Given the description of an element on the screen output the (x, y) to click on. 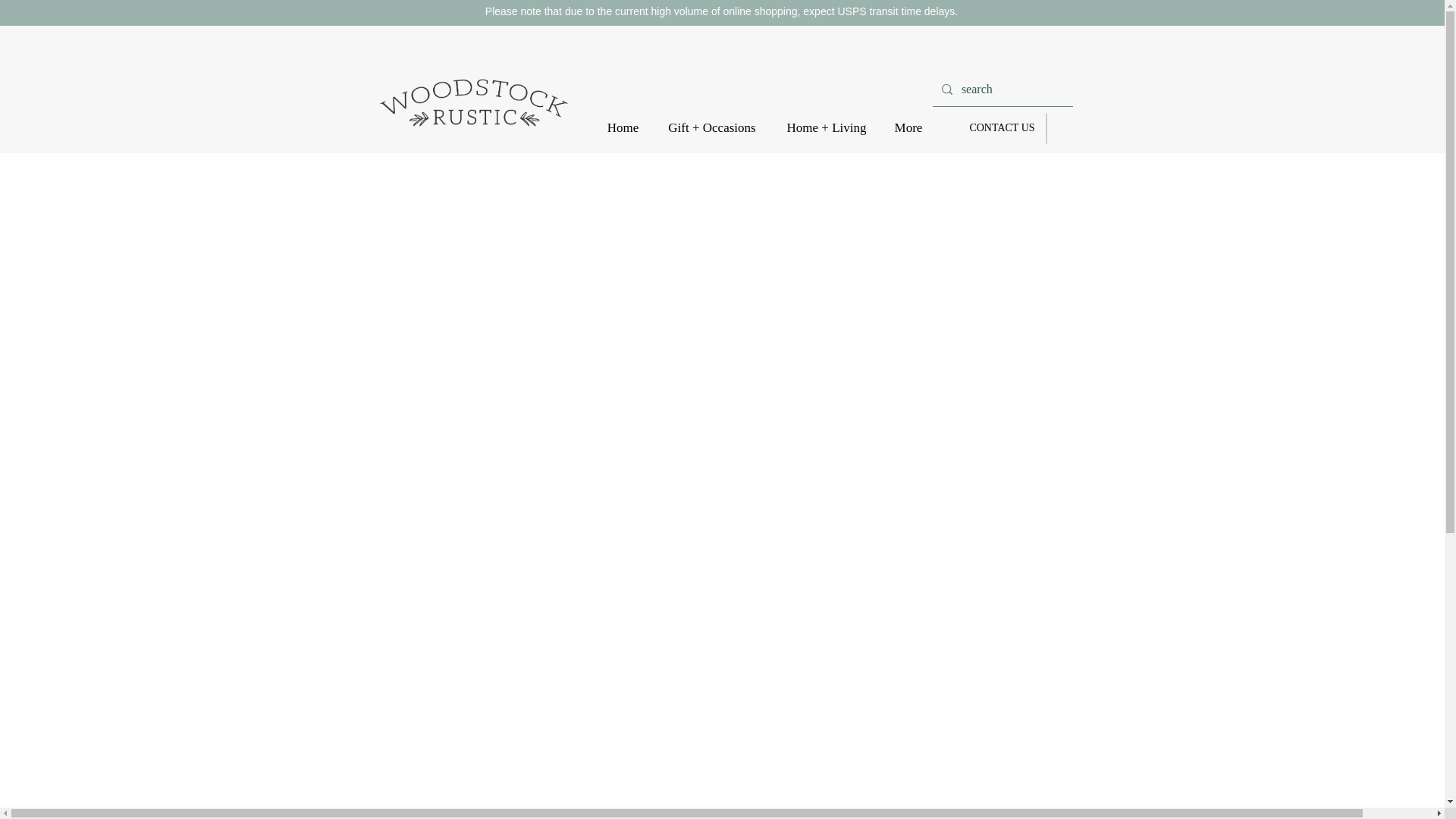
Google verification (435, 30)
CONTACT US (1002, 127)
Home (623, 128)
